Given the description of an element on the screen output the (x, y) to click on. 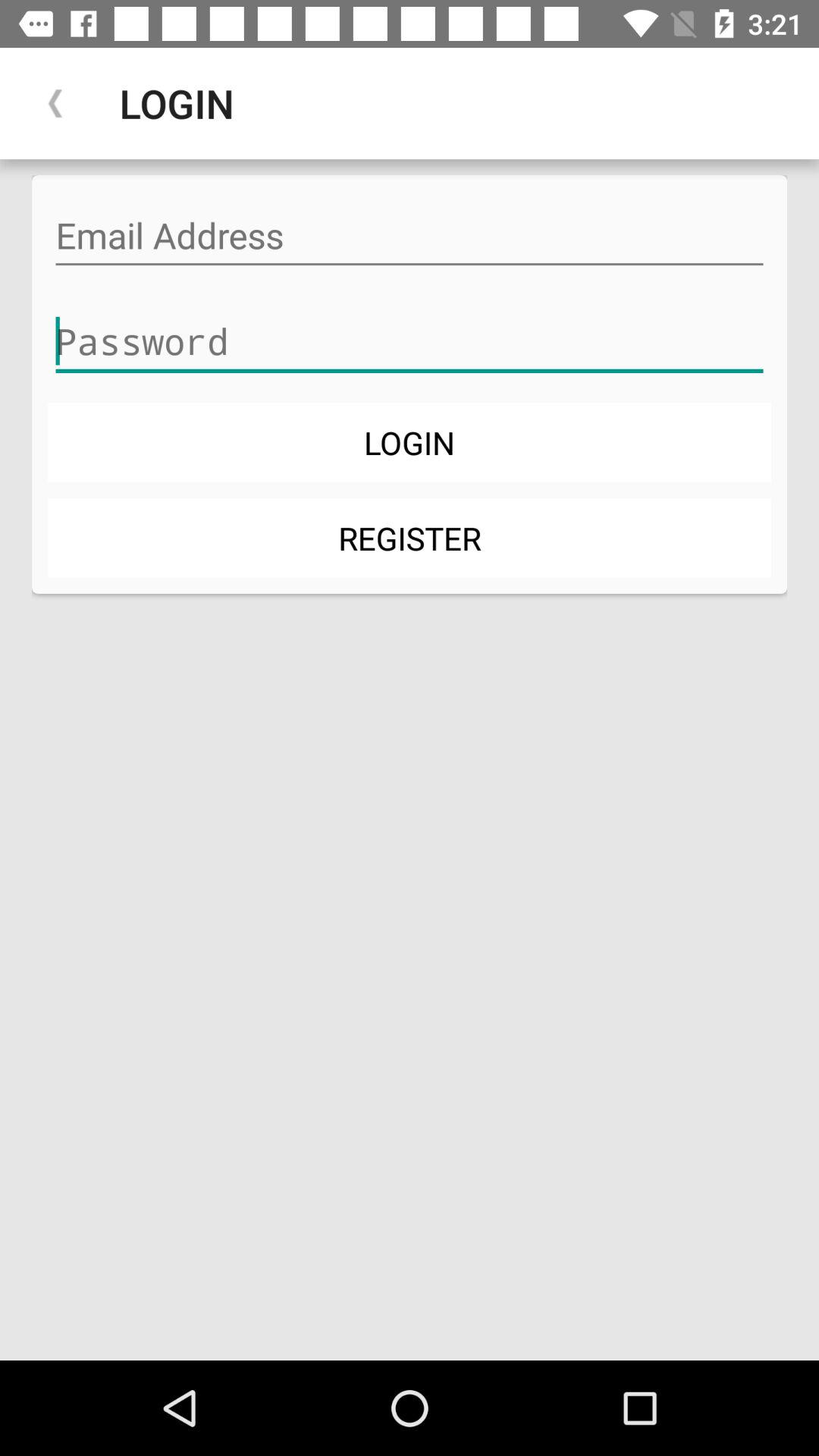
open item next to the login app (55, 103)
